Given the description of an element on the screen output the (x, y) to click on. 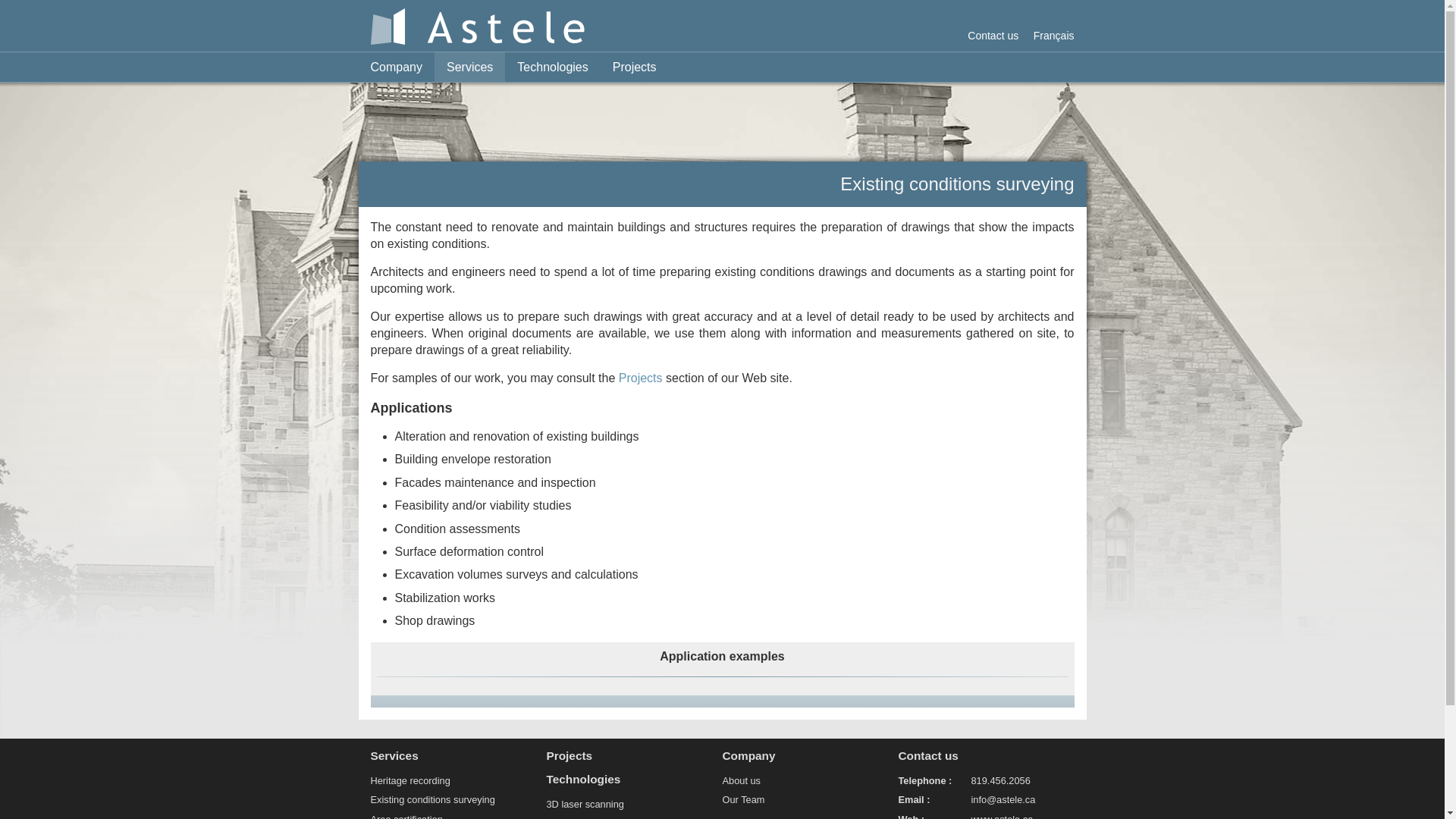
Existing conditions surveying Element type: text (432, 799)
Projects Element type: text (634, 66)
Our Team Element type: text (742, 799)
About us Element type: text (740, 780)
Technologies Element type: text (552, 66)
3D laser scanning Element type: text (584, 803)
Contact us Element type: text (992, 35)
info@astele.ca Element type: text (1002, 799)
Projects Element type: text (633, 755)
Services Element type: text (469, 66)
Heritage recording Element type: text (409, 780)
Contact us Element type: text (985, 755)
Projects Element type: text (640, 377)
Company Element type: text (395, 66)
